Given the description of an element on the screen output the (x, y) to click on. 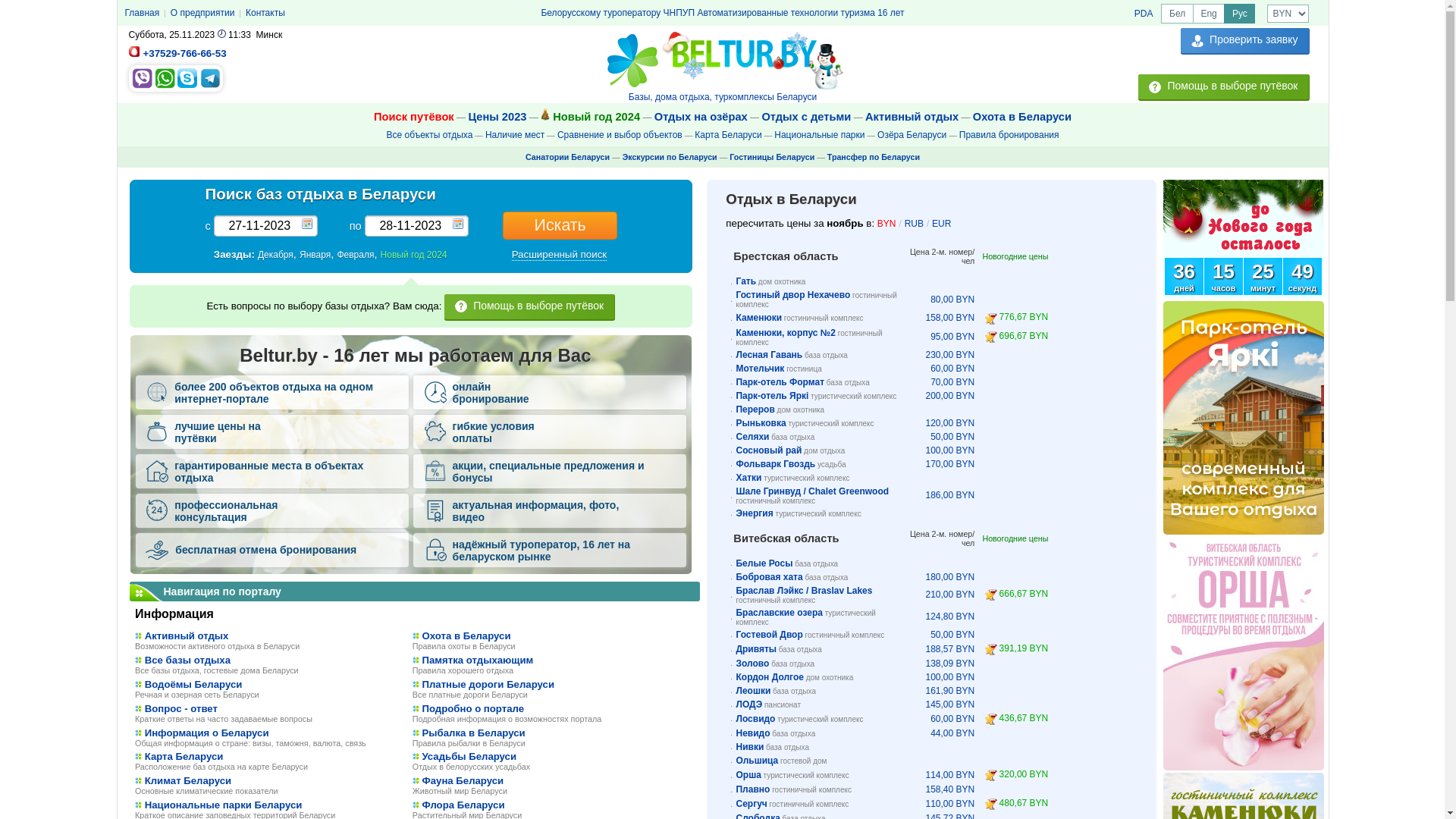
100,00 BYN Element type: text (949, 450)
+37529-766-66-53 Element type: text (183, 53)
100,00 BYN Element type: text (949, 676)
776,67 BYN Element type: text (1023, 316)
BYN Element type: text (886, 223)
170,00 BYN Element type: text (949, 463)
696,67 BYN Element type: text (1023, 335)
... Element type: hover (307, 223)
480,67 BYN Element type: text (1023, 802)
60,00 BYN Element type: text (952, 718)
158,00 BYN Element type: text (949, 317)
114,00 BYN Element type: text (949, 774)
80,00 BYN Element type: text (952, 299)
50,00 BYN Element type: text (952, 436)
210,00 BYN Element type: text (949, 594)
PDA Element type: text (1143, 13)
188,57 BYN Element type: text (949, 648)
50,00 BYN Element type: text (952, 634)
436,67 BYN Element type: text (1023, 717)
120,00 BYN Element type: text (949, 422)
180,00 BYN Element type: text (949, 576)
Eng Element type: text (1208, 13)
320,00 BYN Element type: text (1023, 773)
666,67 BYN Element type: text (1023, 593)
161,90 BYN Element type: text (949, 690)
... Element type: hover (457, 223)
186,00 BYN Element type: text (949, 494)
44,00 BYN Element type: text (952, 733)
RUB Element type: text (913, 223)
124,80 BYN Element type: text (949, 616)
145,00 BYN Element type: text (949, 704)
391,19 BYN Element type: text (1023, 648)
60,00 BYN Element type: text (952, 368)
70,00 BYN Element type: text (952, 381)
200,00 BYN Element type: text (949, 395)
138,09 BYN Element type: text (949, 663)
95,00 BYN Element type: text (952, 336)
EUR Element type: text (940, 223)
158,40 BYN Element type: text (949, 789)
230,00 BYN Element type: text (949, 354)
110,00 BYN Element type: text (949, 803)
